Given the description of an element on the screen output the (x, y) to click on. 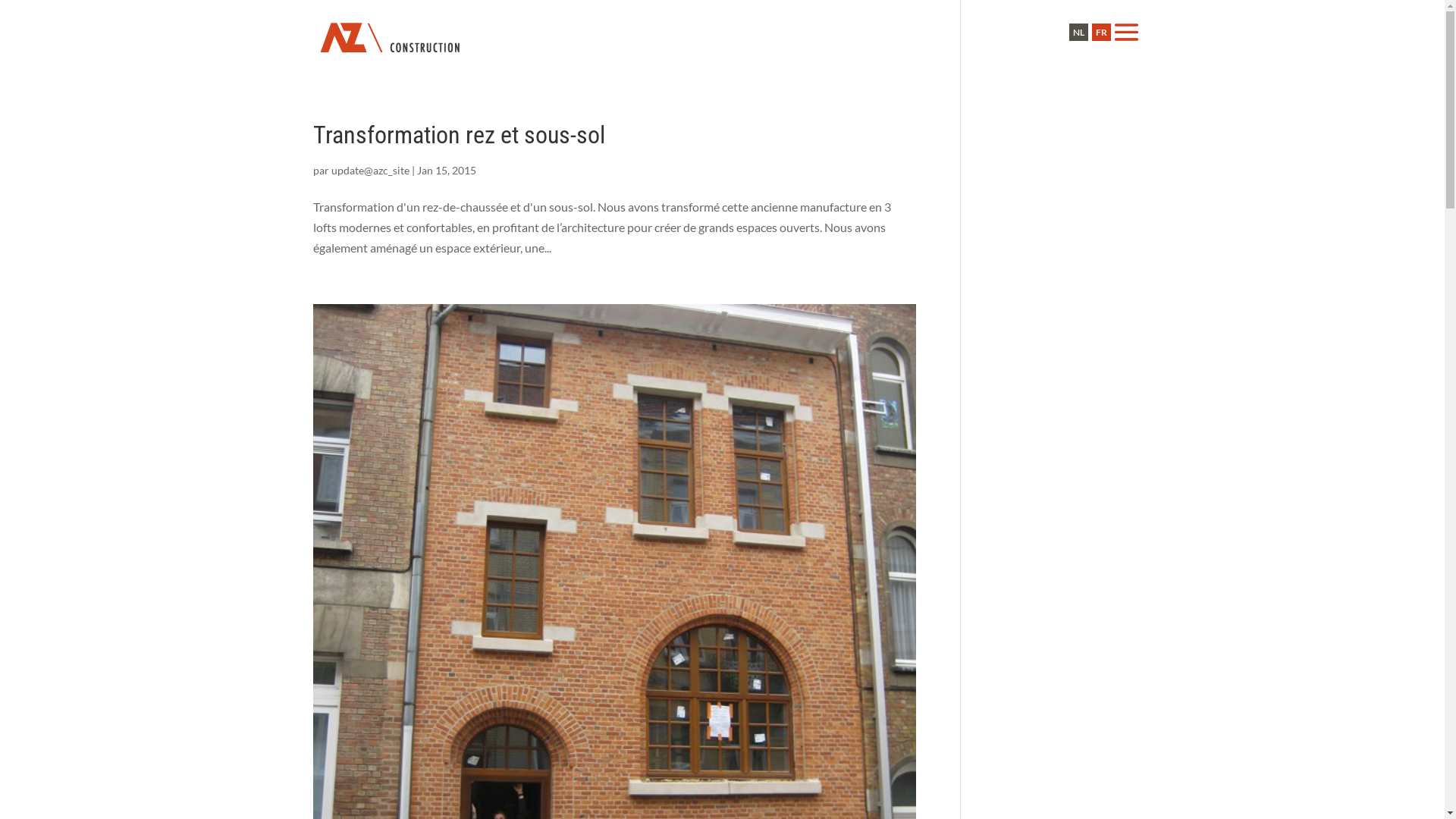
NL Element type: text (1078, 31)
Transformation rez et sous-sol Element type: text (458, 134)
update@azc_site Element type: text (369, 169)
FR Element type: text (1101, 31)
